Given the description of an element on the screen output the (x, y) to click on. 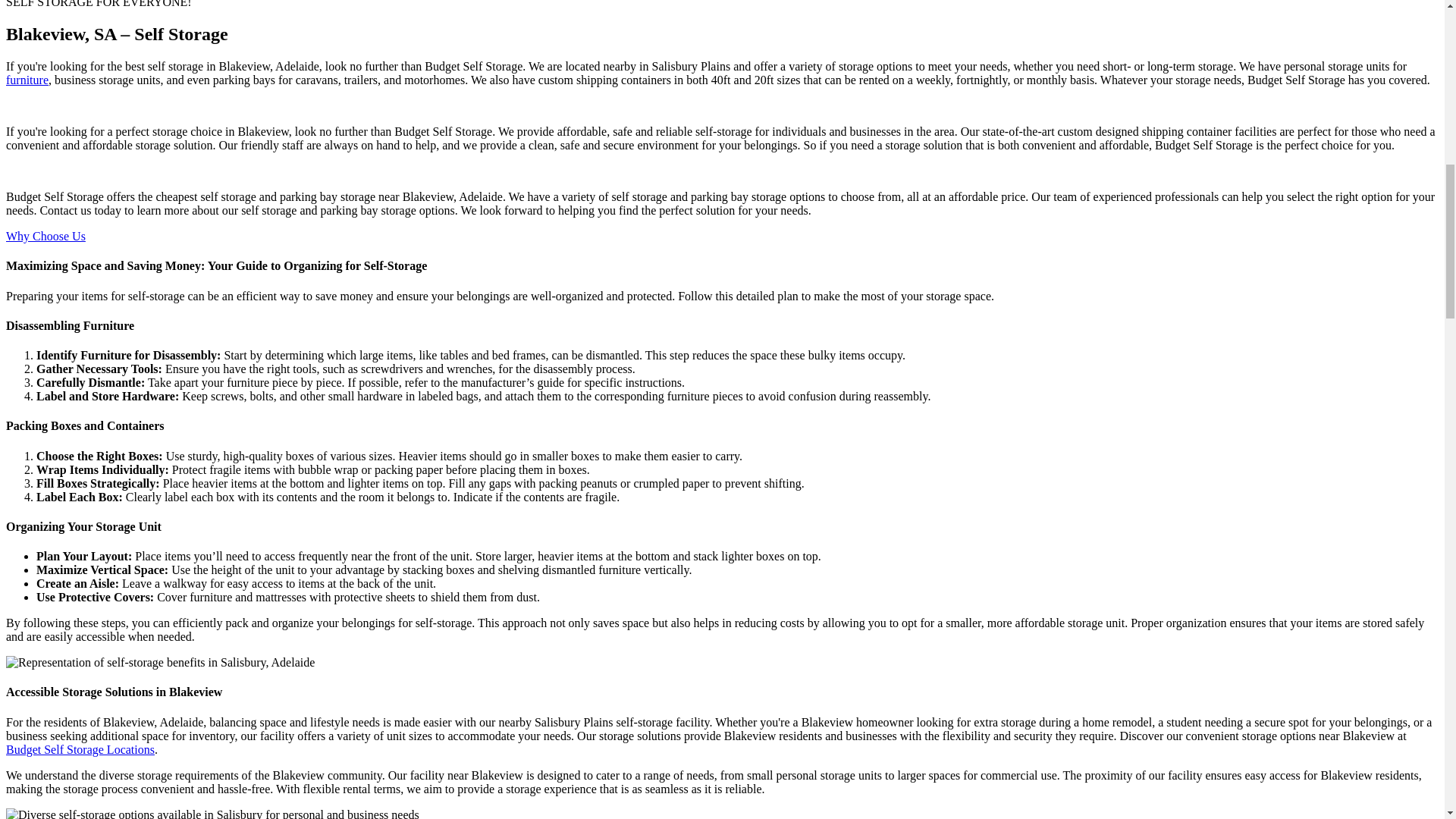
furniture (26, 79)
Why Choose Us (45, 236)
Budget Self Storage Locations (79, 748)
